Given the description of an element on the screen output the (x, y) to click on. 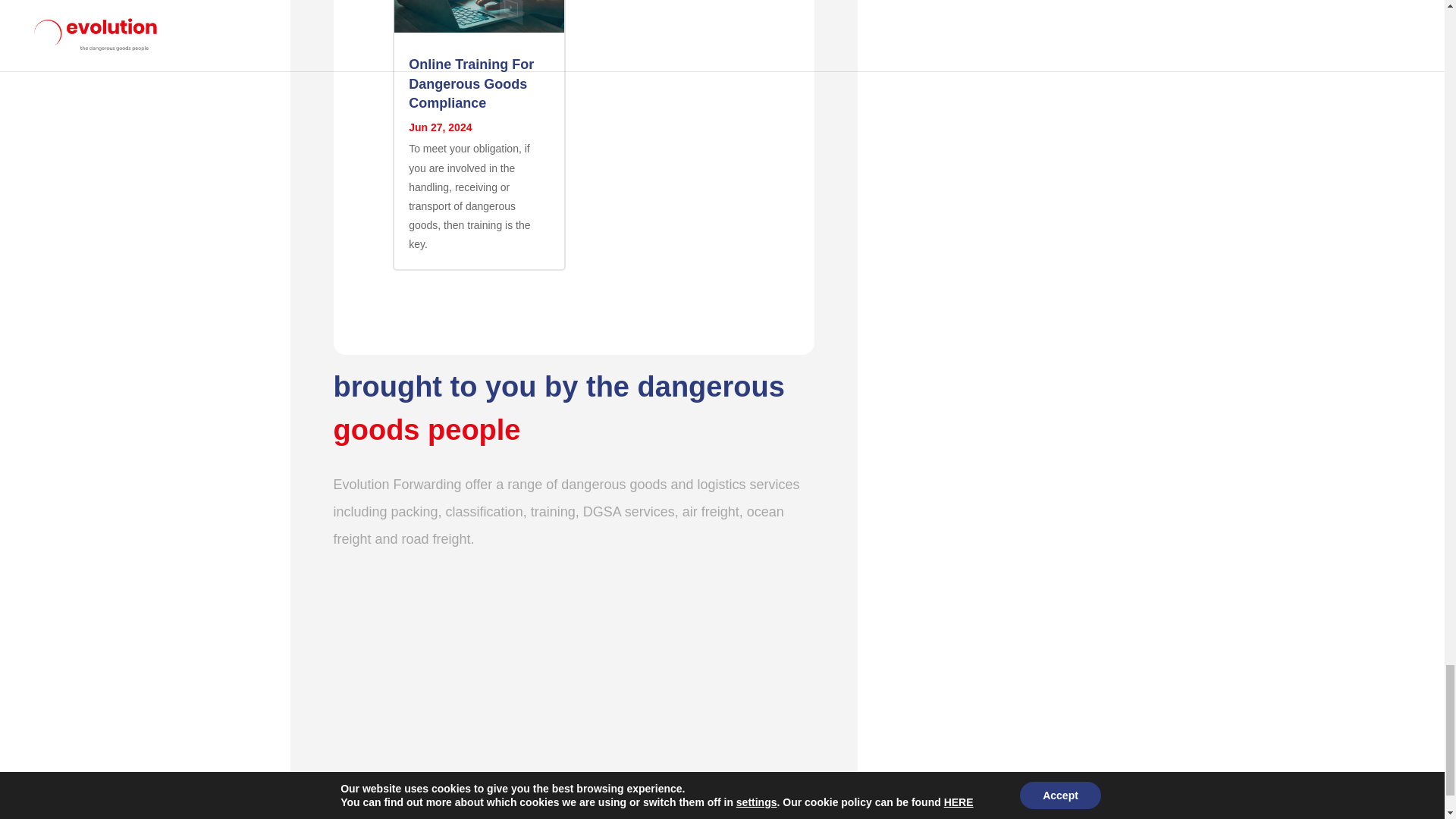
The dangerous goods people (574, 691)
Online Training For Dangerous Goods Compliance (471, 82)
